Given the description of an element on the screen output the (x, y) to click on. 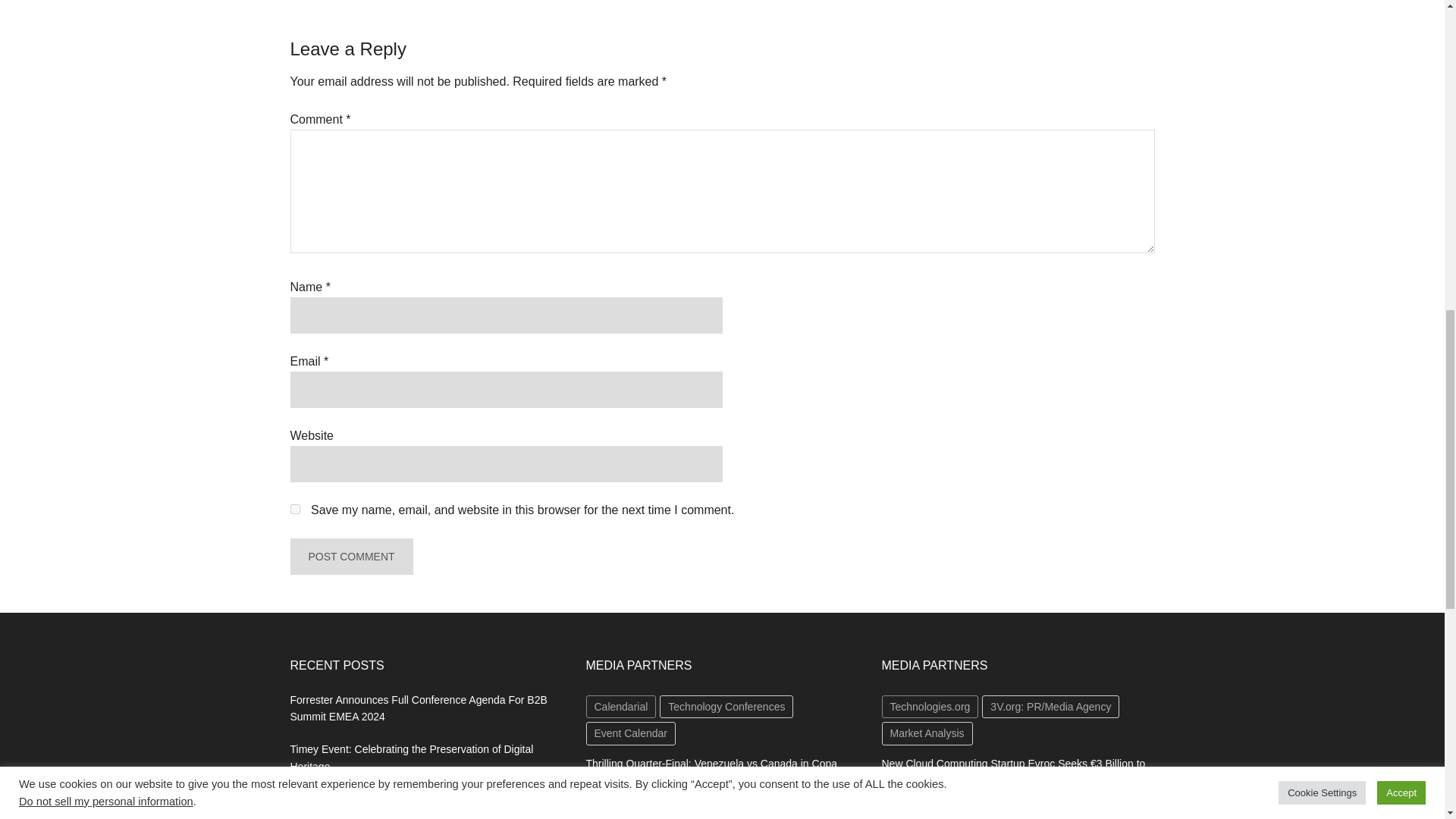
Post Comment (350, 556)
PxEf.com Announces Innovative Smart Infographic Workshop (408, 806)
Post Comment (350, 556)
yes (294, 509)
